Given the description of an element on the screen output the (x, y) to click on. 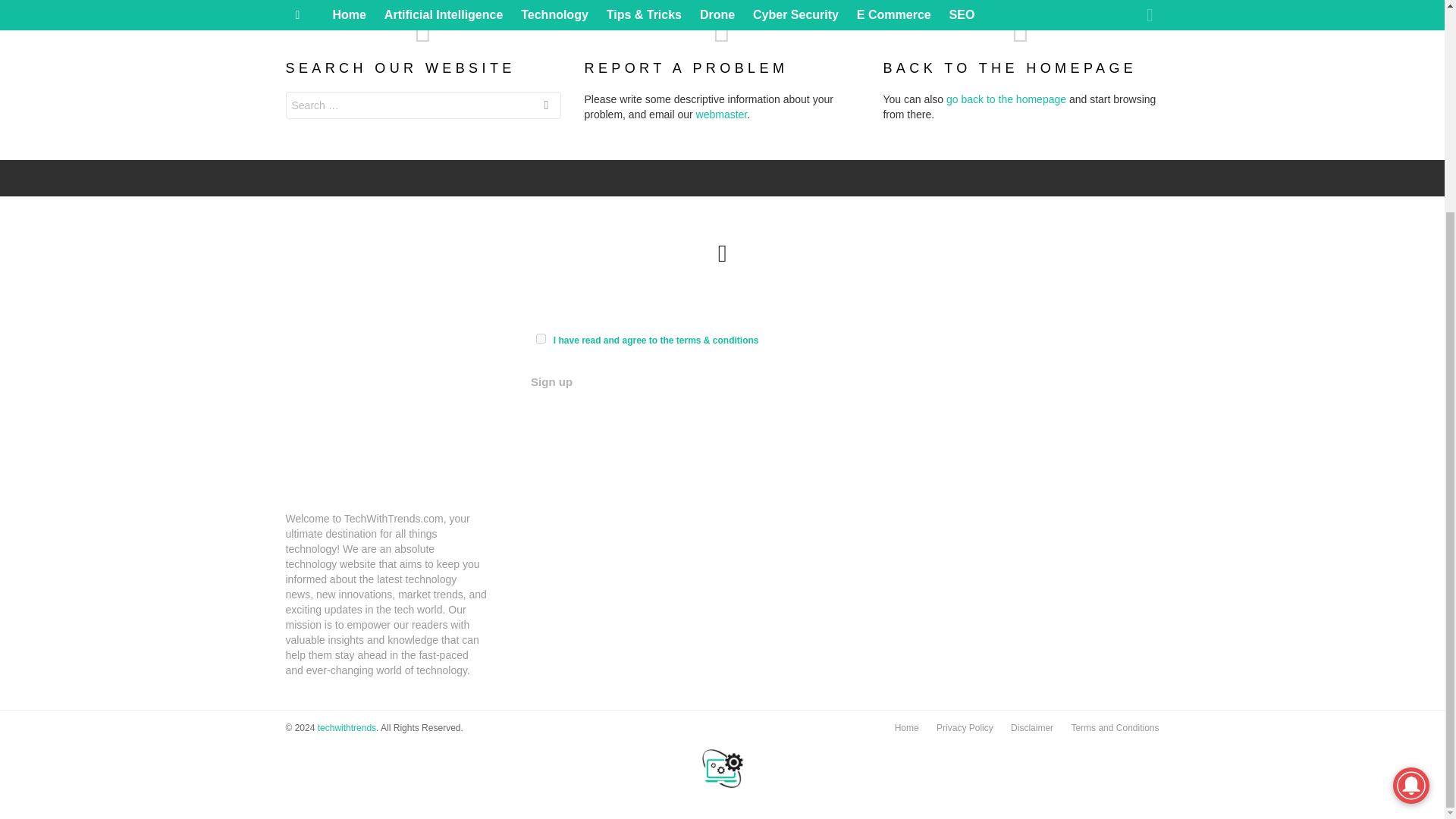
Search (545, 106)
Sign up (551, 381)
1 (540, 338)
go back to the homepage (1005, 99)
Search for: (422, 104)
techwithtrends (346, 727)
Terms and Conditions (1114, 727)
Disclaimer (1032, 727)
Privacy Policy (964, 727)
Home (906, 727)
Sign up (551, 381)
webmaster (721, 114)
